Given the description of an element on the screen output the (x, y) to click on. 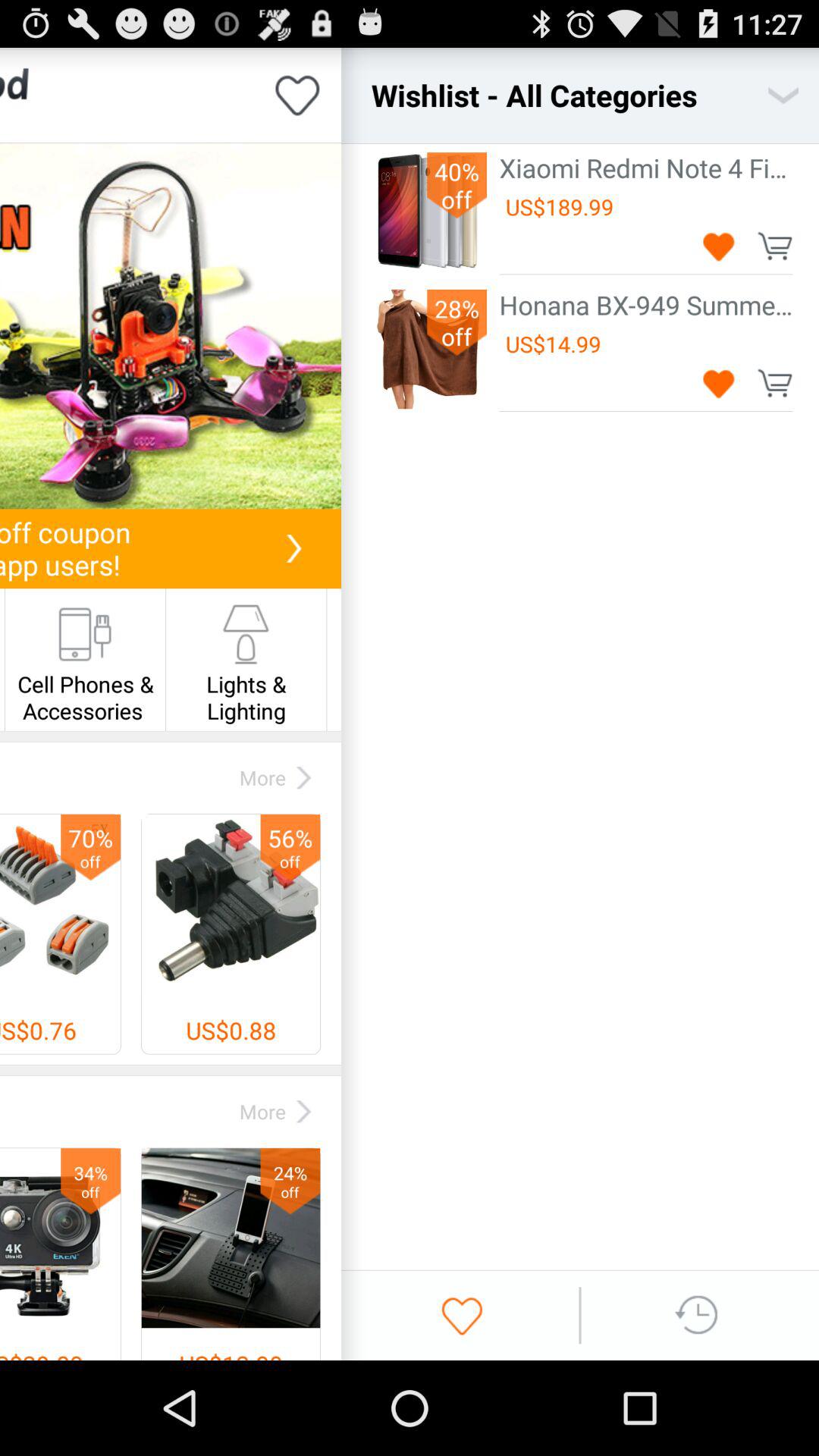
add to cart (774, 382)
